Given the description of an element on the screen output the (x, y) to click on. 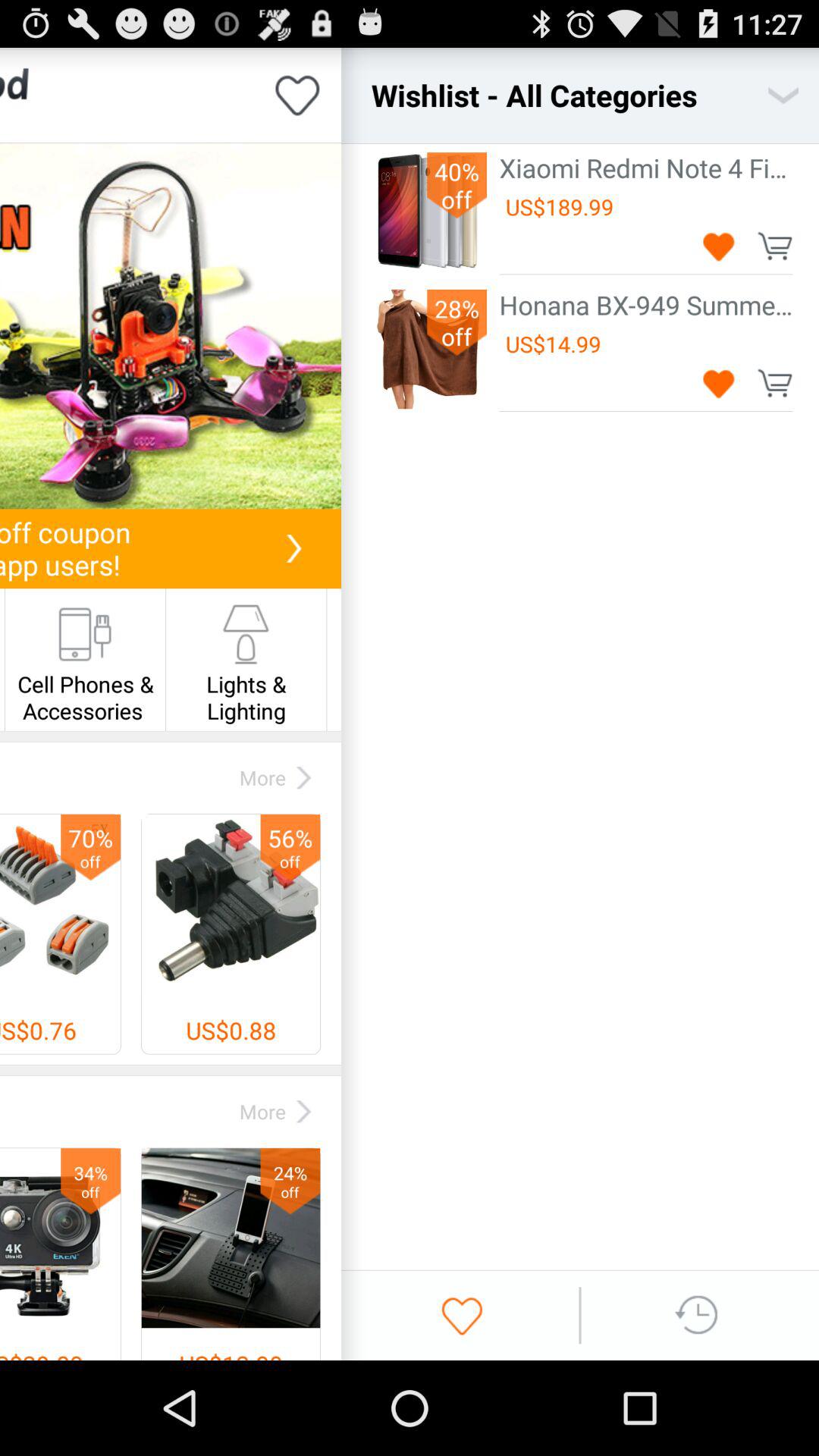
add to cart (774, 382)
